Given the description of an element on the screen output the (x, y) to click on. 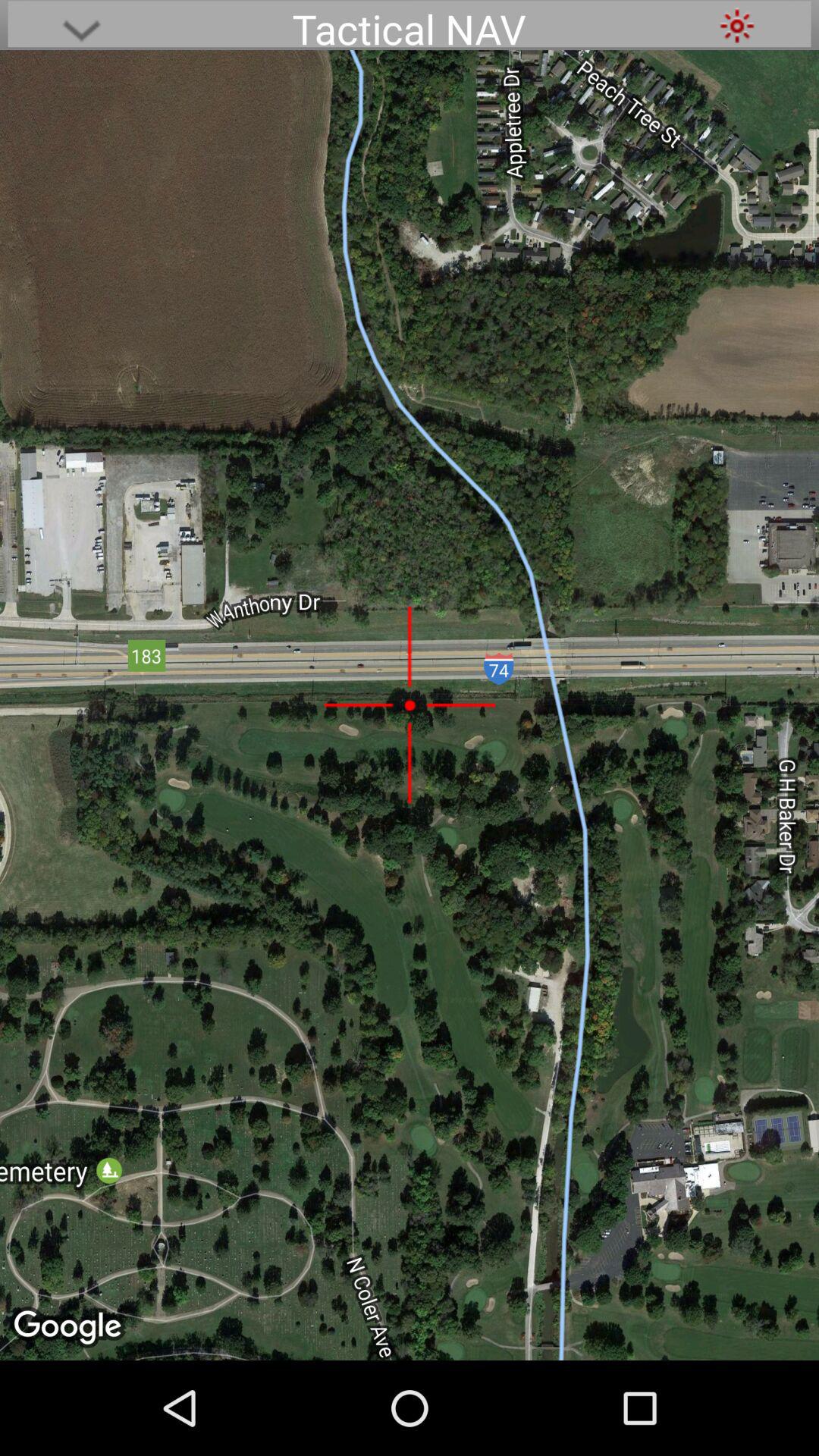
click item to the right of tactical nav item (737, 25)
